Given the description of an element on the screen output the (x, y) to click on. 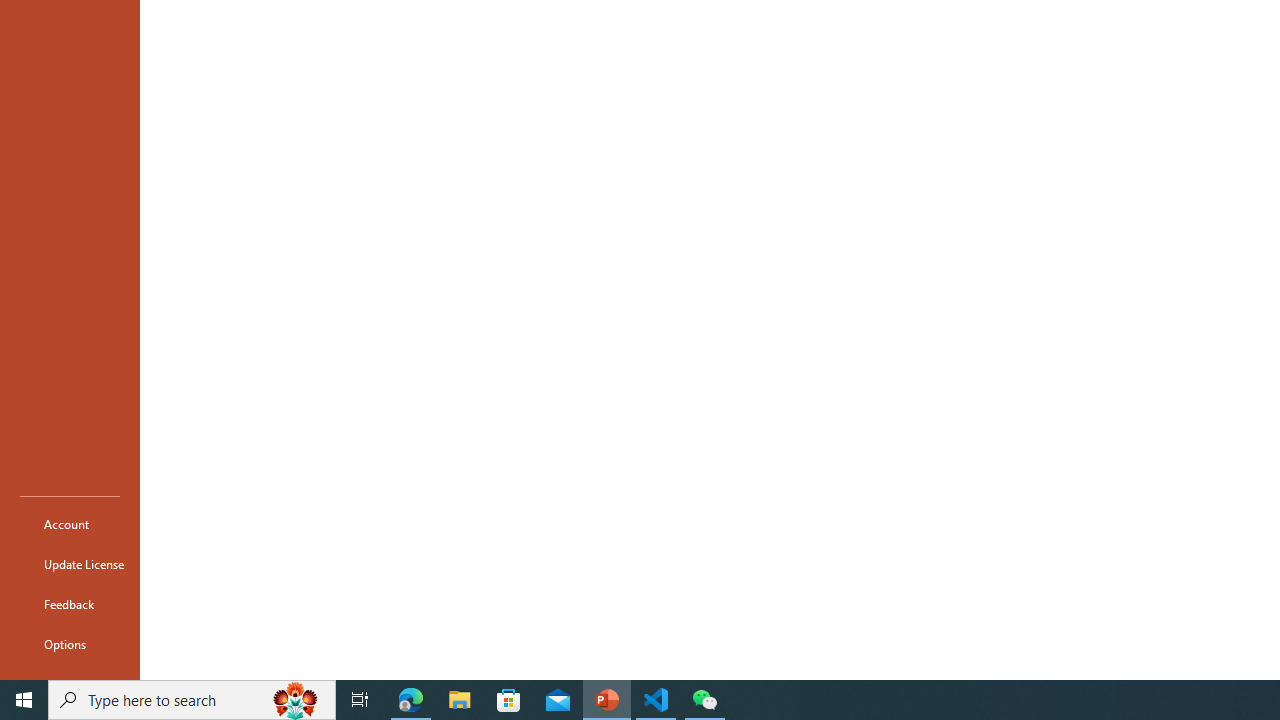
Update License (69, 563)
Account (69, 523)
Feedback (69, 603)
Options (69, 643)
